Given the description of an element on the screen output the (x, y) to click on. 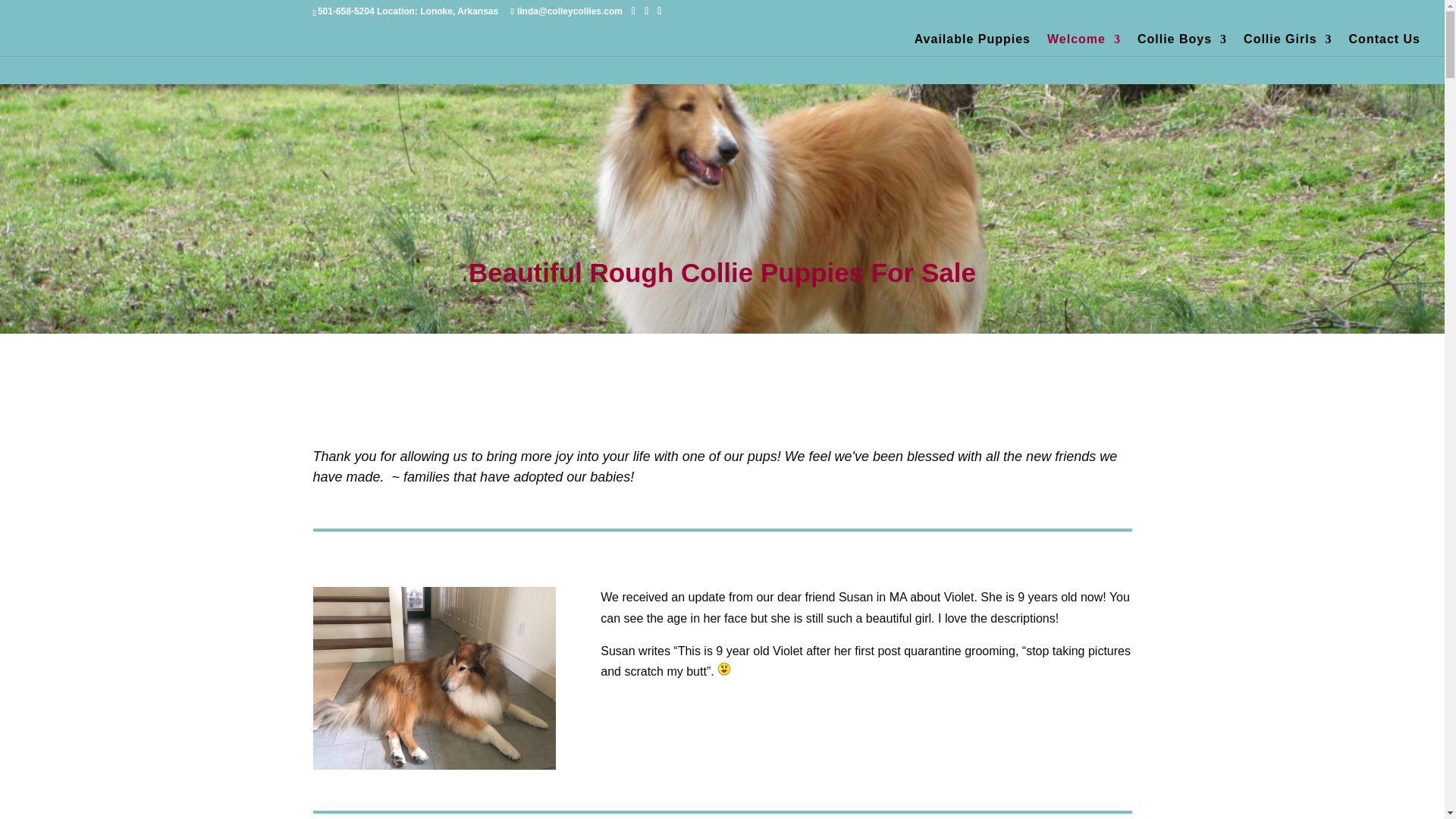
Contact Us (1385, 45)
Collie Boys (1182, 45)
Collie Girls (1287, 45)
Welcome (1083, 45)
Violet-9yearsold-R (433, 678)
Available Puppies (972, 45)
